Given the description of an element on the screen output the (x, y) to click on. 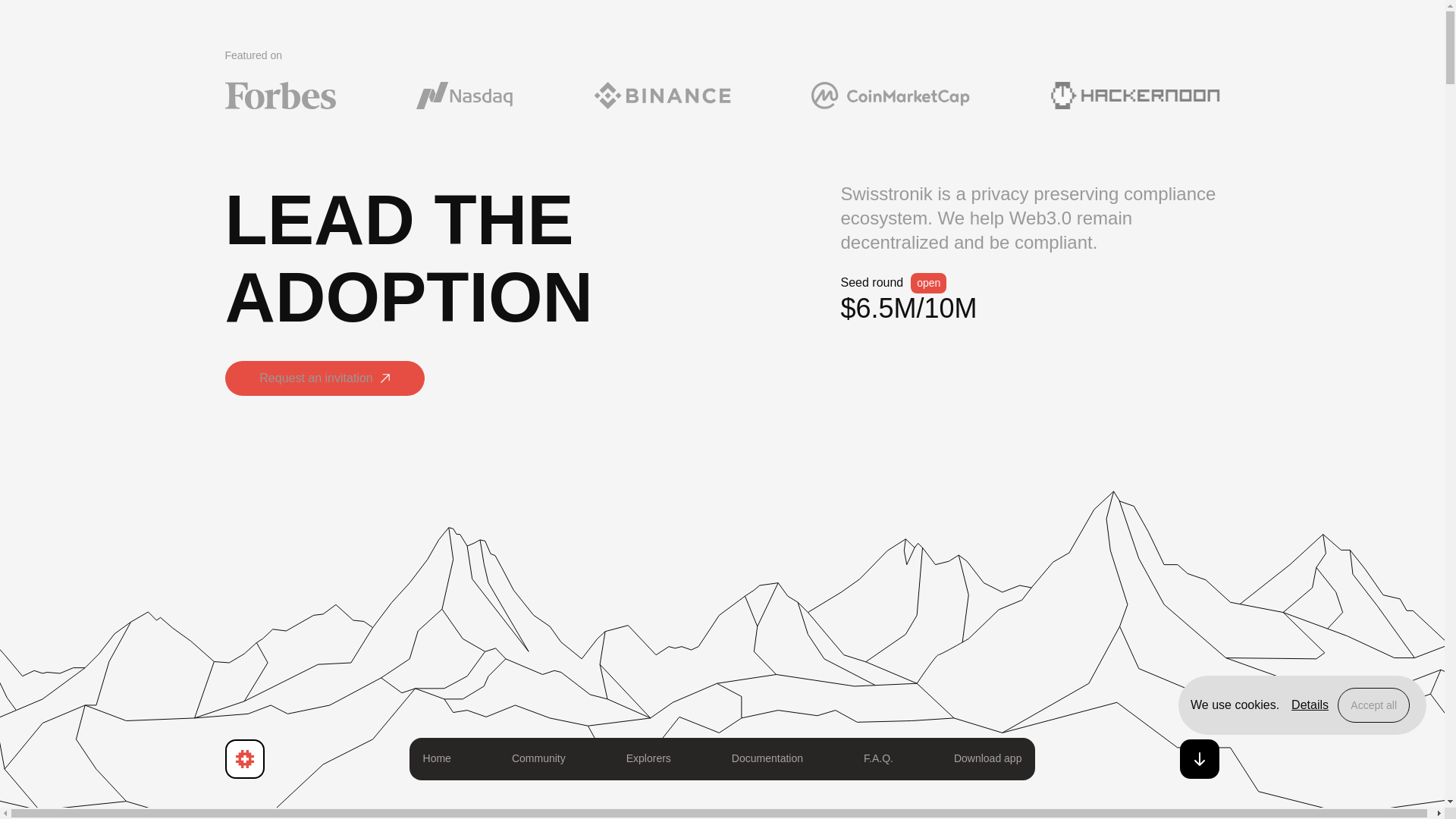
Request an invitation (323, 378)
